Given the description of an element on the screen output the (x, y) to click on. 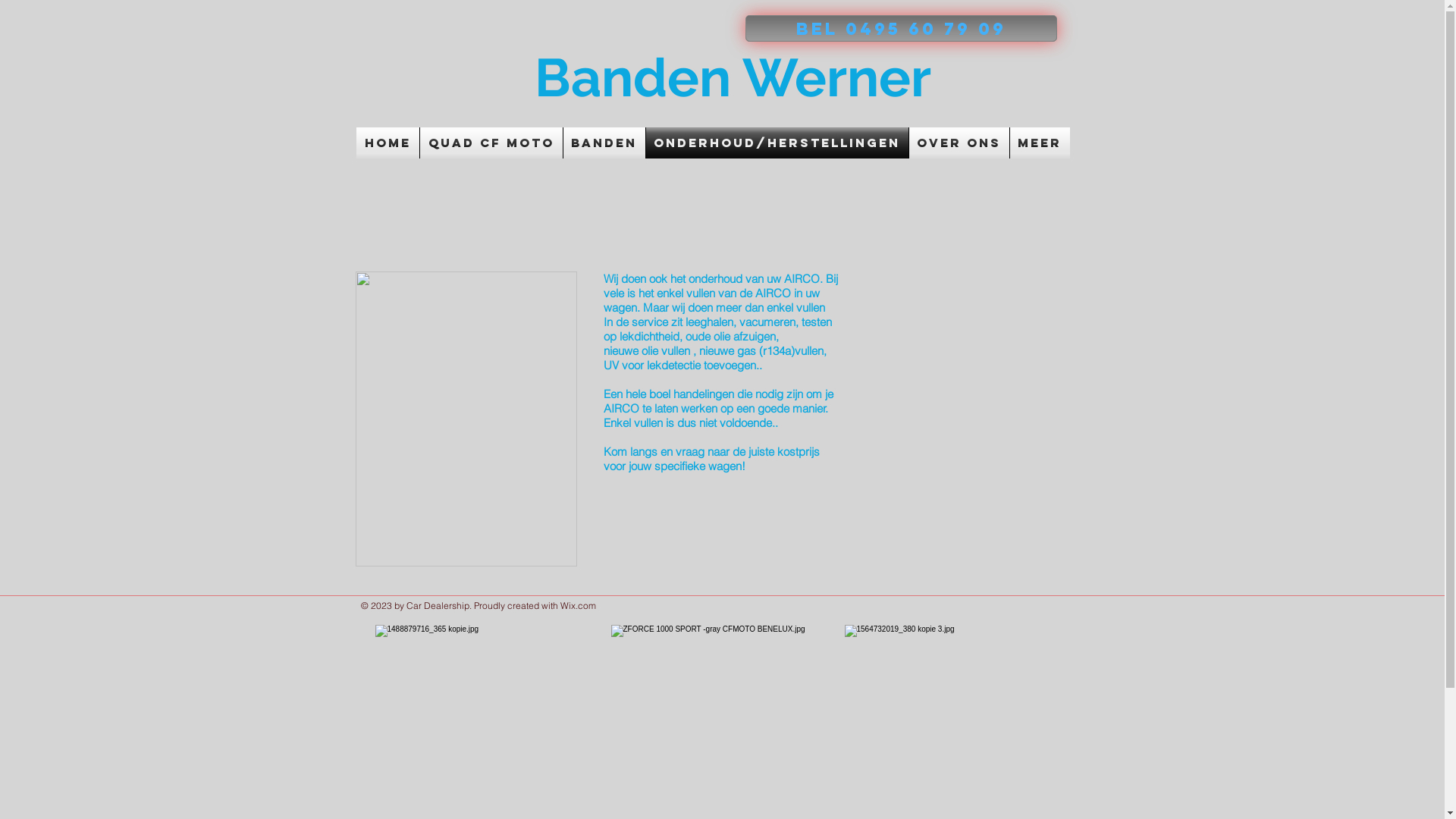
BEl 0495 60 79 09 Element type: text (900, 28)
Wix.com Element type: text (577, 605)
Onderhoud/Herstellingen Element type: text (777, 142)
HOME Element type: text (387, 142)
QUAD CF MOTO Element type: text (491, 142)
Banden Werner  Element type: text (738, 77)
Over ons Element type: text (958, 142)
BANDEN Element type: text (603, 142)
